Given the description of an element on the screen output the (x, y) to click on. 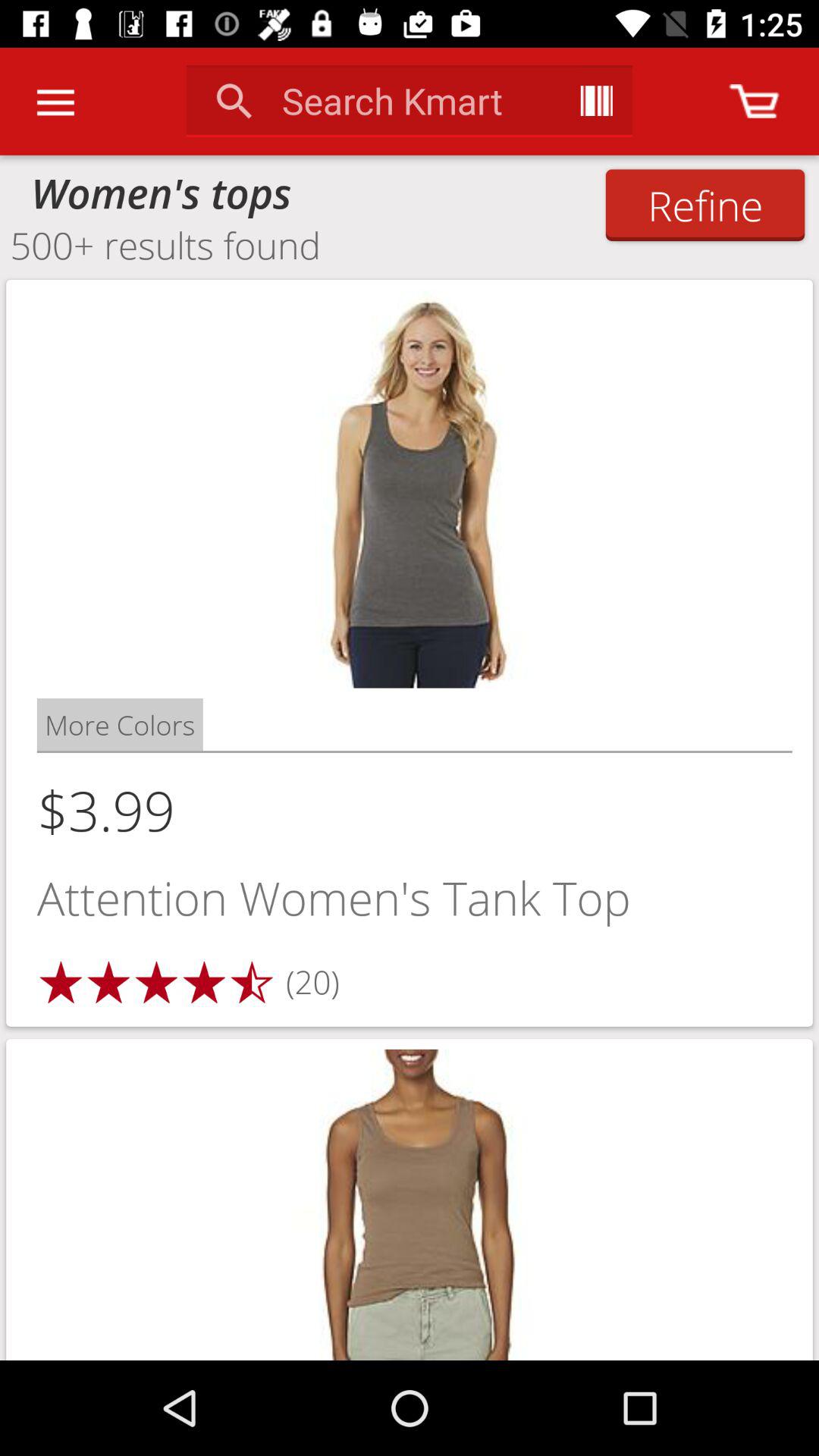
scroll until refine icon (704, 205)
